Given the description of an element on the screen output the (x, y) to click on. 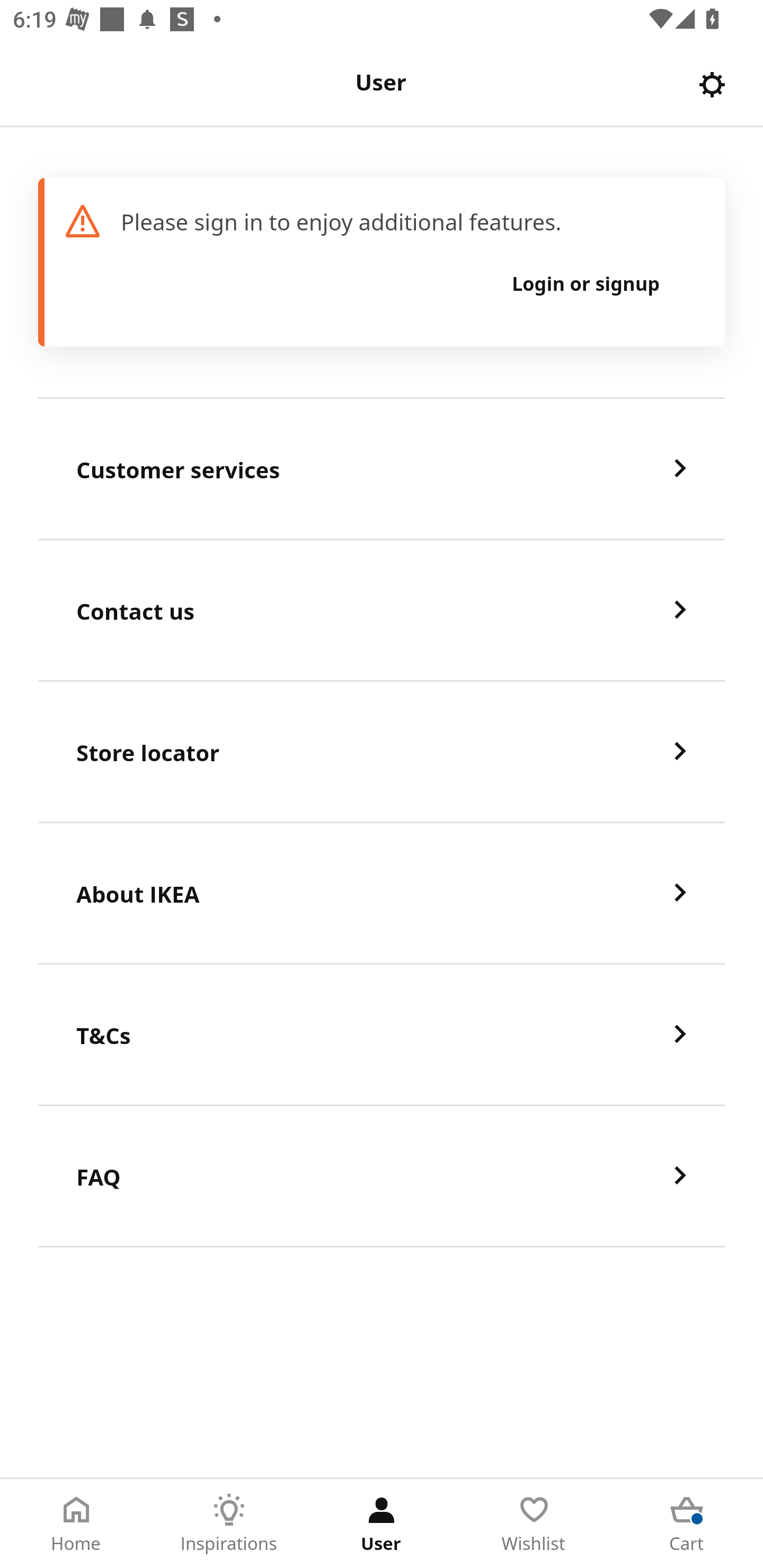
Login or signup (586, 282)
Customer services (381, 469)
Contact us (381, 611)
Store locator (381, 752)
About IKEA (381, 893)
T&Cs (381, 1034)
FAQ (381, 1176)
Home
Tab 1 of 5 (76, 1522)
Inspirations
Tab 2 of 5 (228, 1522)
User
Tab 3 of 5 (381, 1522)
Wishlist
Tab 4 of 5 (533, 1522)
Cart
Tab 5 of 5 (686, 1522)
